Given the description of an element on the screen output the (x, y) to click on. 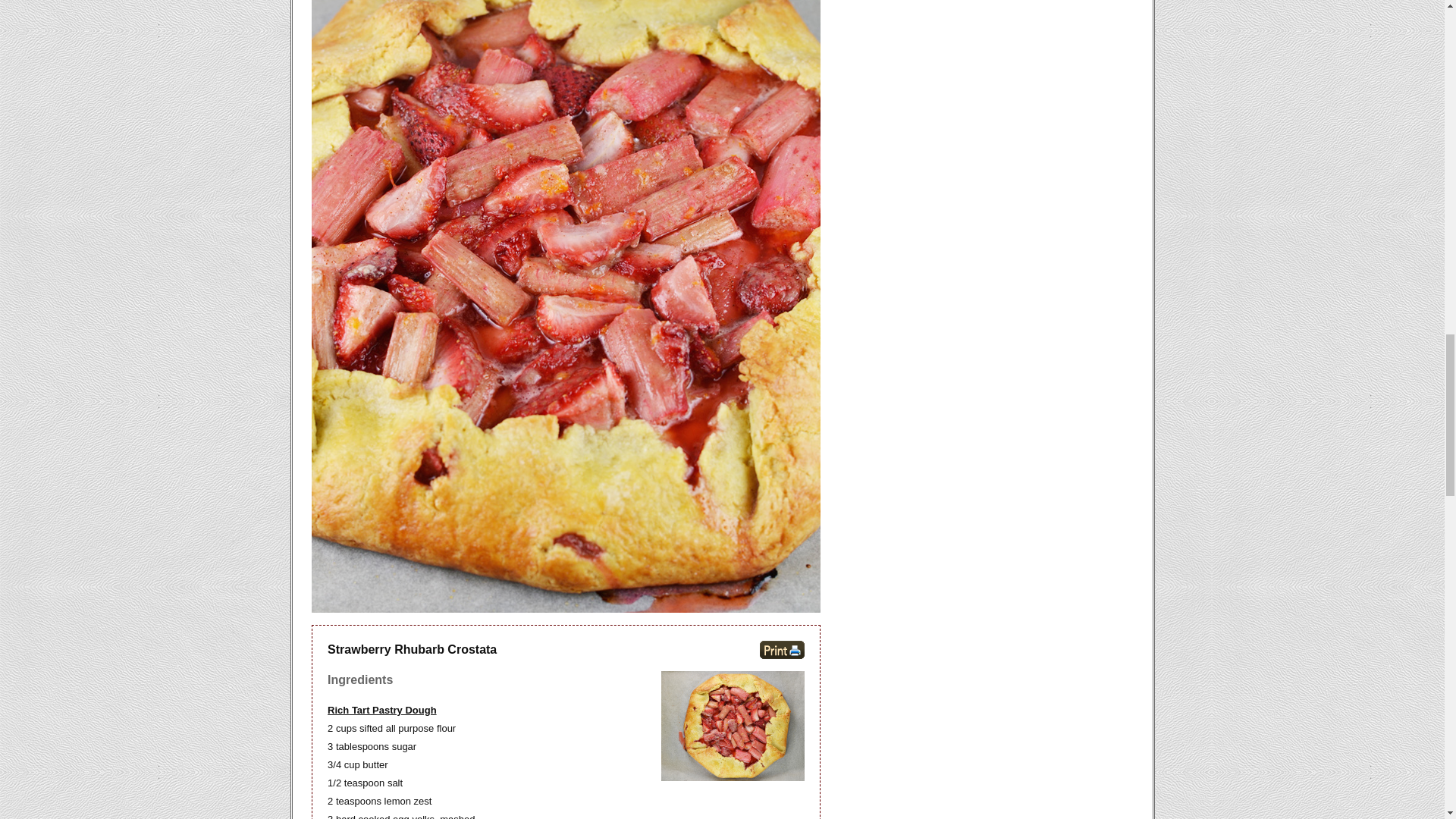
Strawberry Rhubarb Crostata (733, 725)
